Given the description of an element on the screen output the (x, y) to click on. 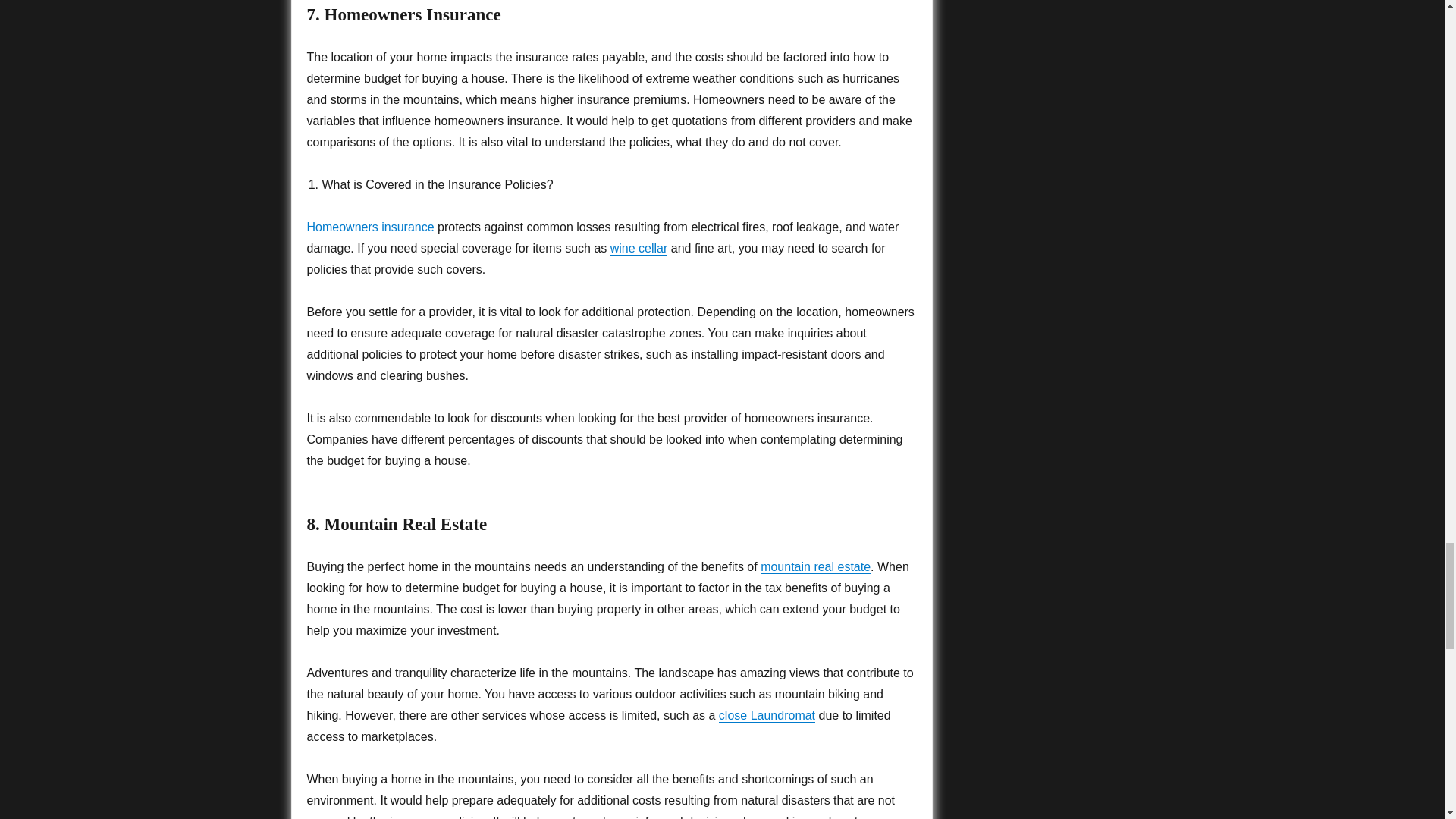
Homeowners insurance (369, 226)
mountain real estate (815, 566)
close Laundromat (767, 715)
wine cellar (639, 247)
